Given the description of an element on the screen output the (x, y) to click on. 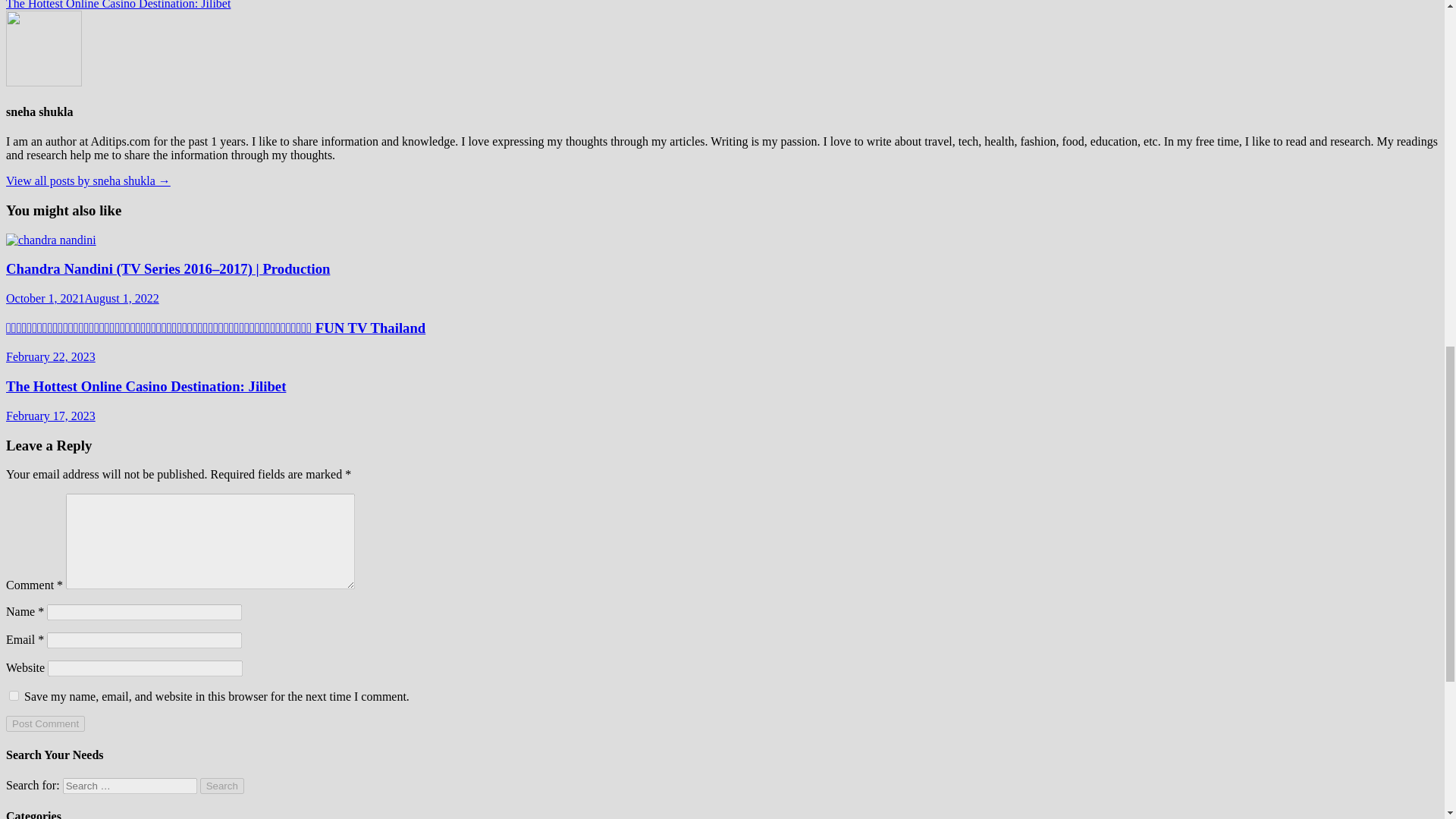
The Hottest Online Casino Destination: Jilibet (145, 385)
Post Comment (44, 723)
The Hottest Online Casino Destination: Jilibet (145, 385)
Search (222, 785)
October 1, 2021August 1, 2022 (81, 297)
yes (13, 696)
Search (222, 785)
Search (222, 785)
sneha shukla (87, 180)
February 17, 2023 (50, 415)
February 22, 2023 (50, 356)
Post Comment (44, 723)
